Given the description of an element on the screen output the (x, y) to click on. 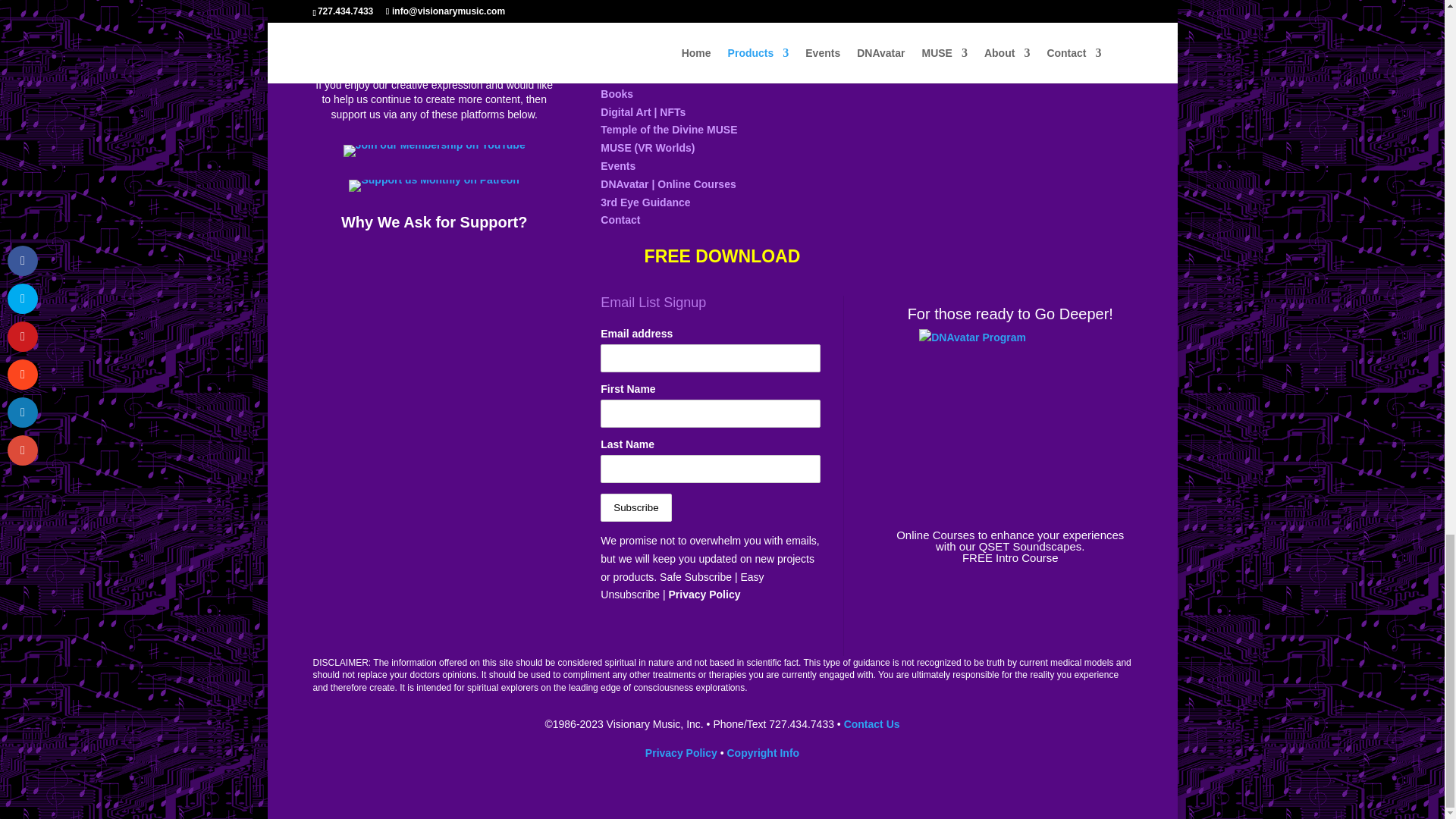
Support us Monthly on Patreon (433, 185)
Join our Membership on YouTube (434, 150)
Subscribe (635, 507)
